Given the description of an element on the screen output the (x, y) to click on. 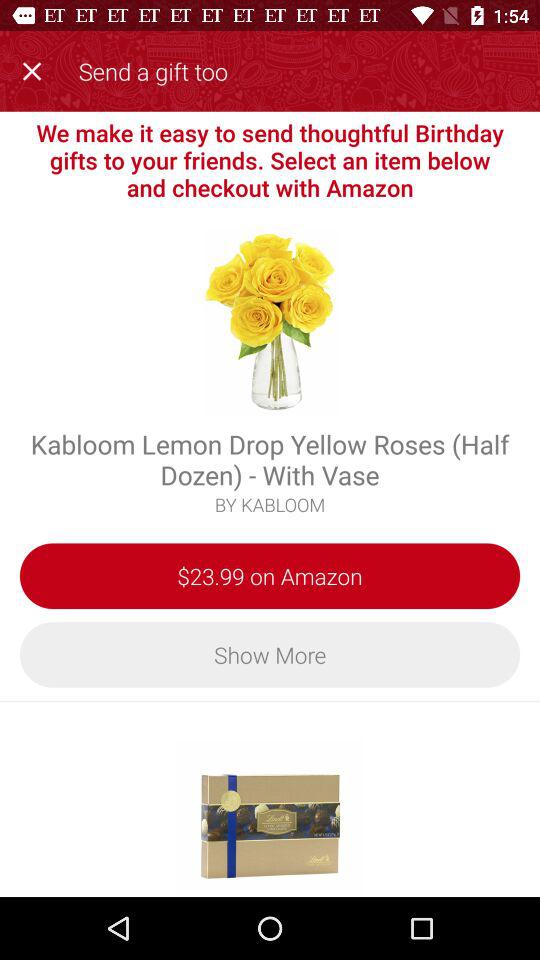
tap the item below 23 99 on item (269, 654)
